Given the description of an element on the screen output the (x, y) to click on. 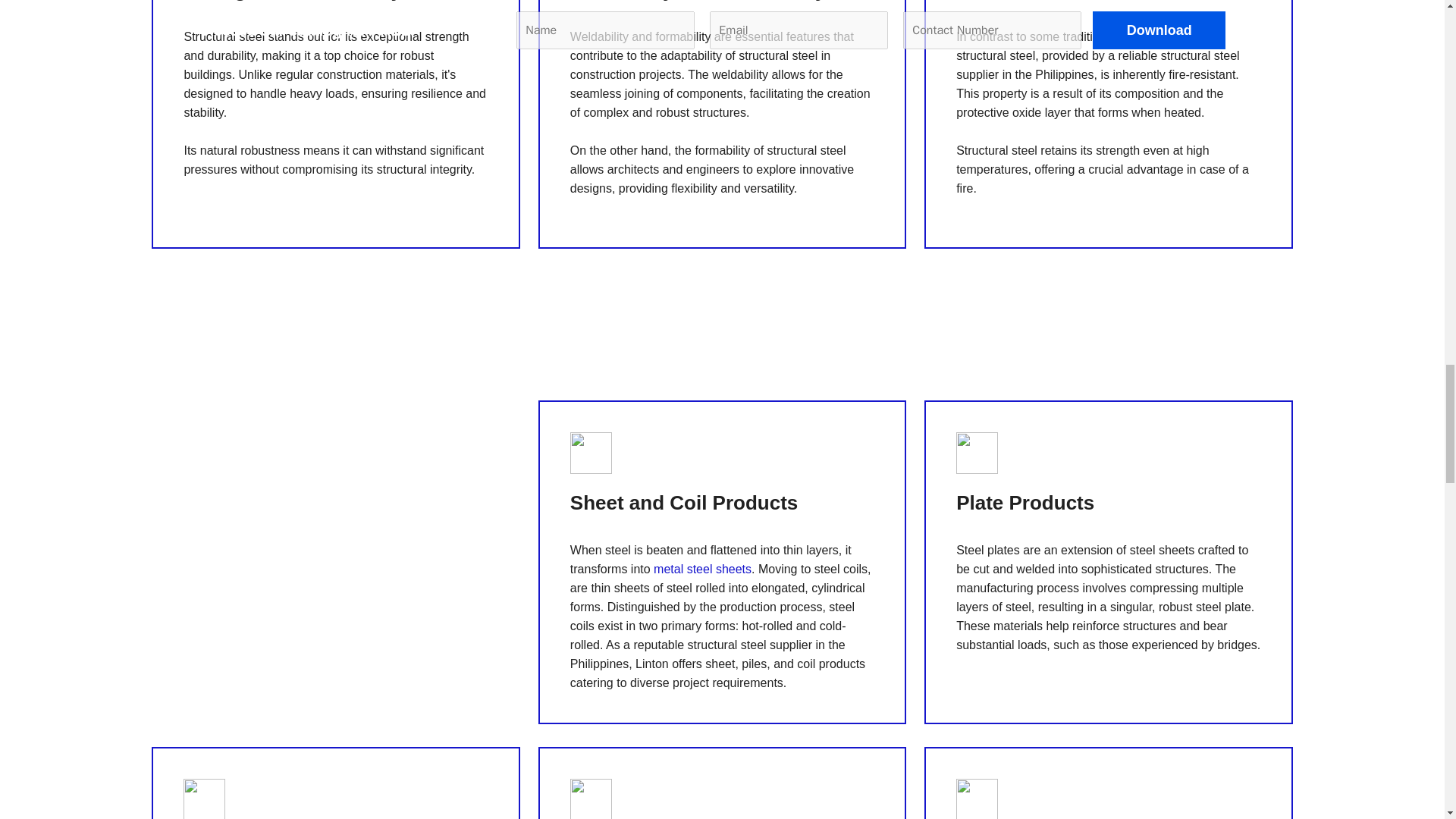
metal steel sheets (702, 568)
